Given the description of an element on the screen output the (x, y) to click on. 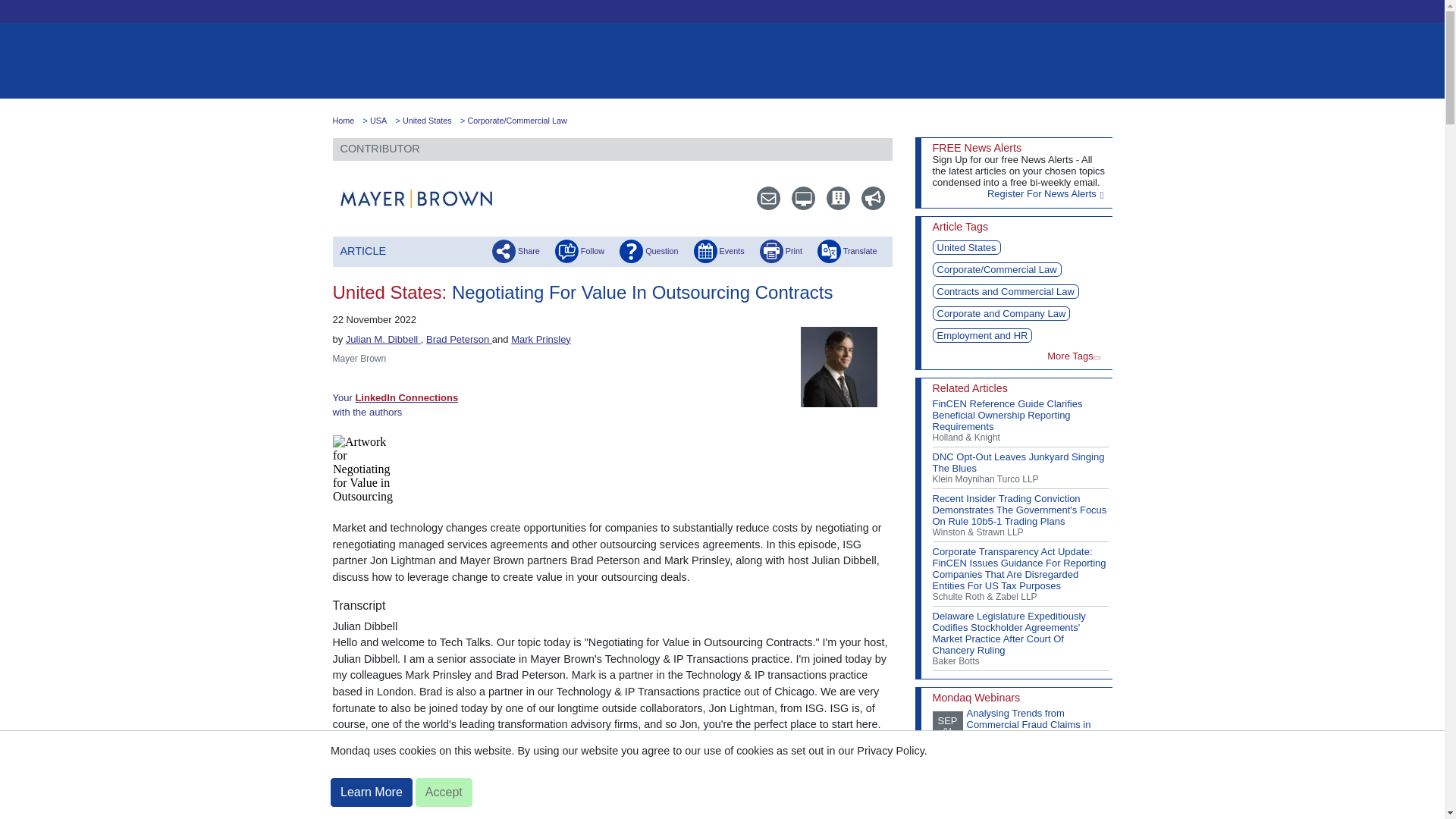
United States (427, 120)
Email Mayer Brown (761, 197)
Click to visit to Mayer Brown Website (415, 198)
Print (781, 250)
Translate (846, 250)
Libsyn Player (611, 468)
News about Mayer Brown (865, 197)
Brad Peterson (459, 338)
Events (719, 250)
Mark Prinsley (540, 338)
View this authors biography on their website (383, 338)
View this authors biography on their website (459, 338)
Share (516, 250)
More from Mayer Brown (830, 197)
Follow (579, 250)
